Given the description of an element on the screen output the (x, y) to click on. 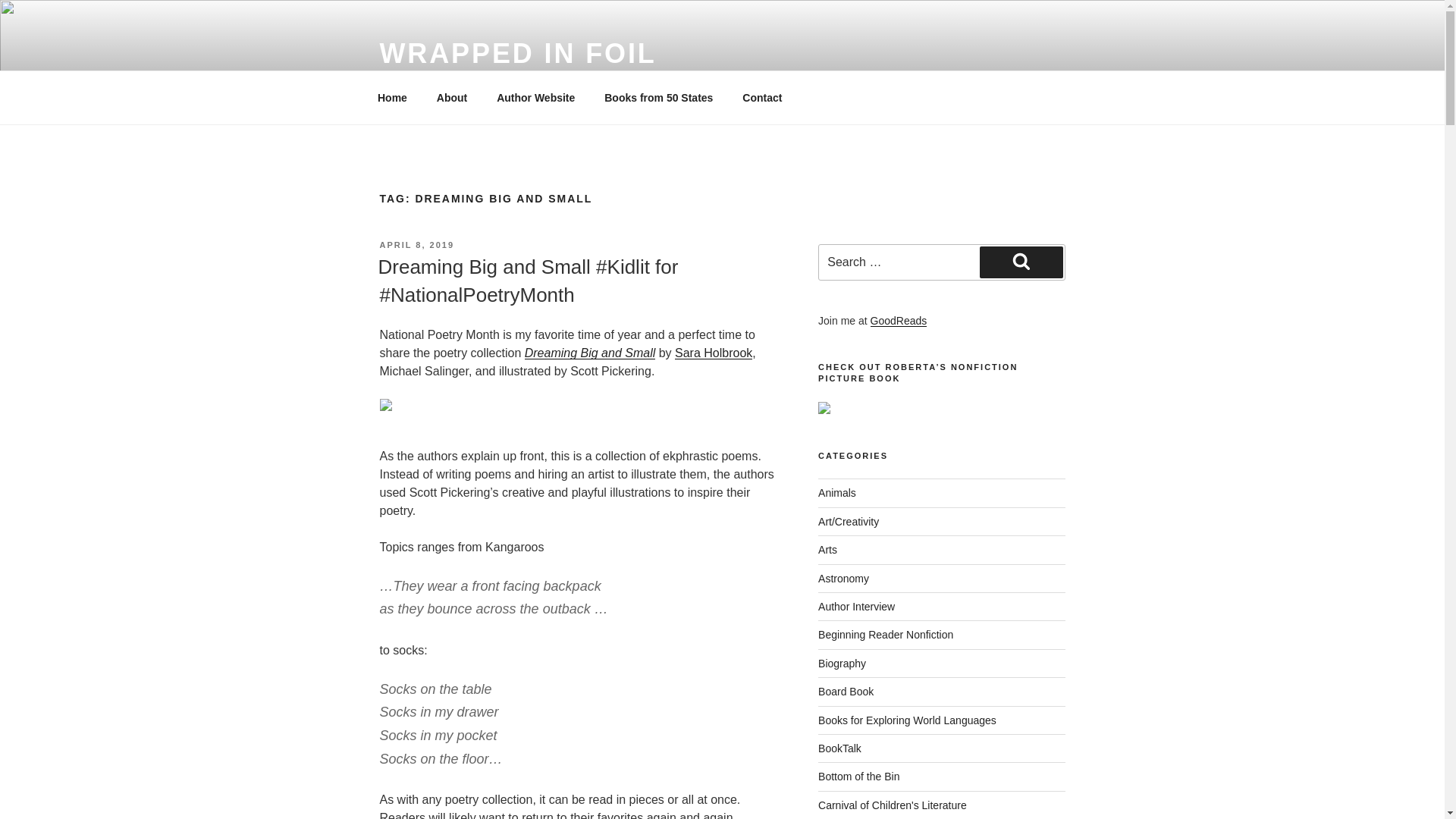
Bottom of the Bin (858, 776)
Animals (837, 492)
Author Interview (856, 606)
Books for Exploring World Languages (906, 720)
Beginning Reader Nonfiction (885, 634)
Home (392, 97)
Carnival of Children's Literature (892, 805)
Dreaming Big and Small (590, 352)
APRIL 8, 2019 (416, 244)
BookTalk (839, 748)
Books from 50 States (658, 97)
GoodReads (898, 320)
Author Website (535, 97)
Biography (842, 663)
Sara Holbrook (713, 352)
